Given the description of an element on the screen output the (x, y) to click on. 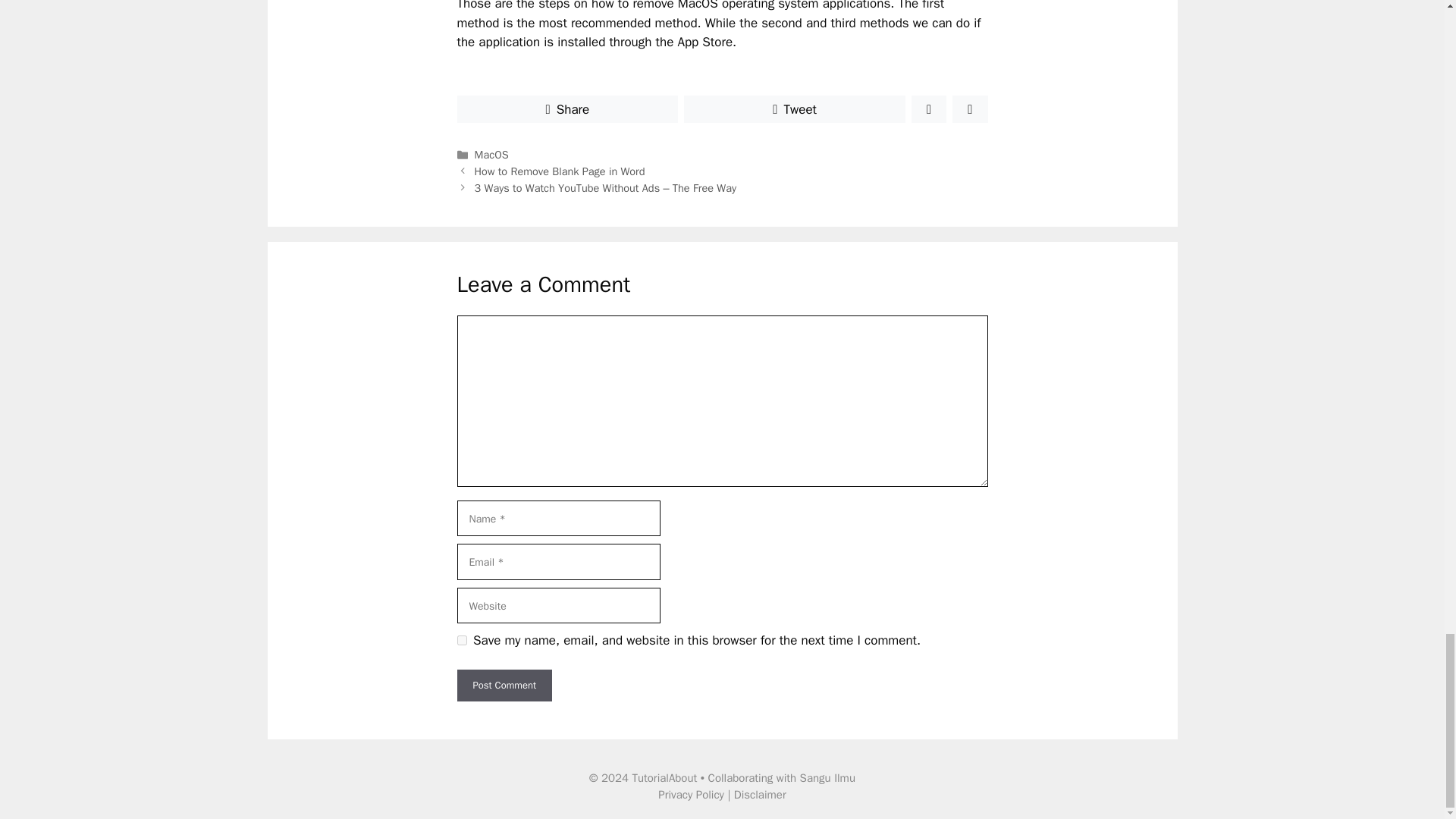
Post Comment (504, 685)
Share (567, 108)
Tweet (794, 108)
yes (461, 640)
